Given the description of an element on the screen output the (x, y) to click on. 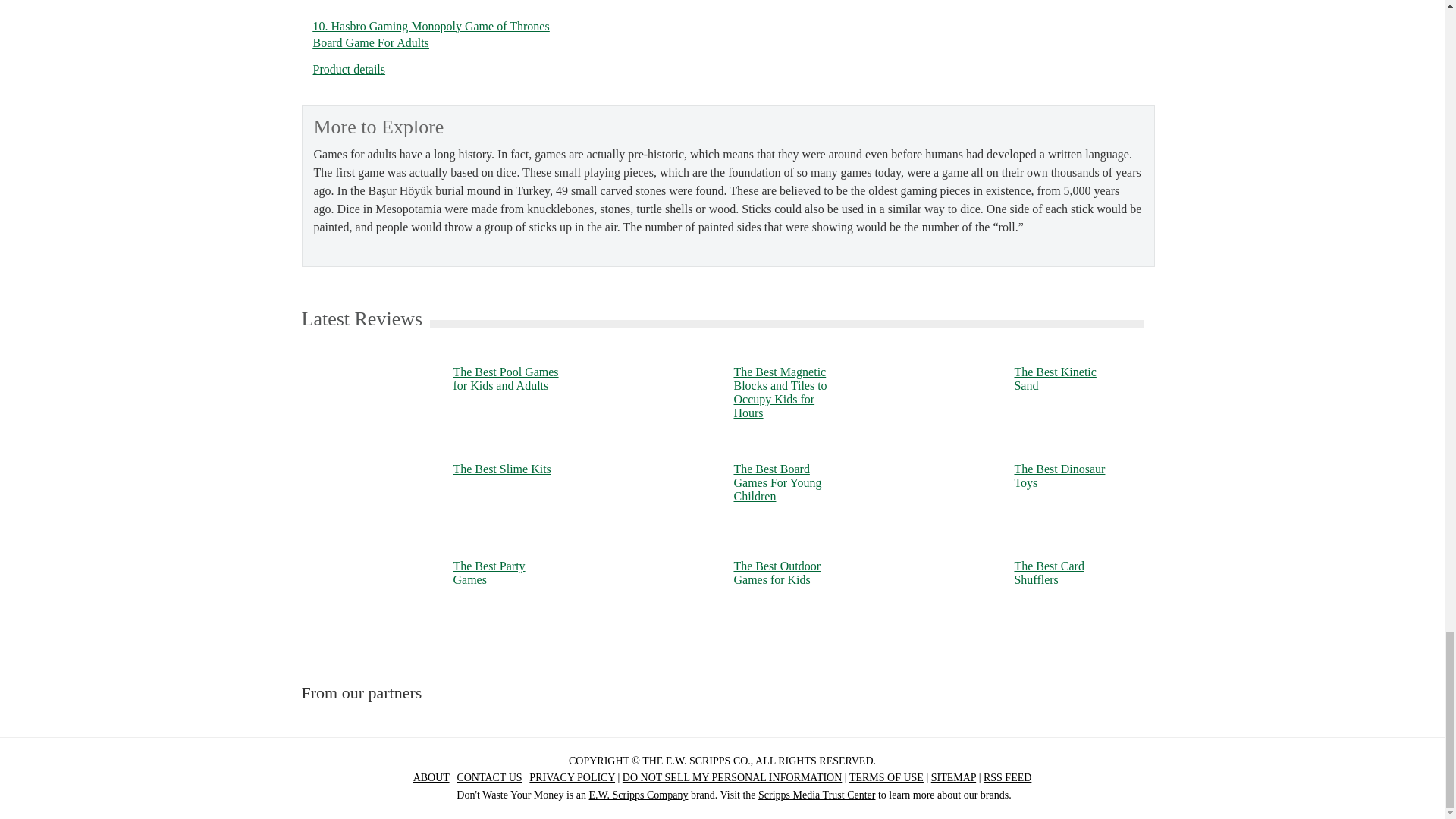
Hasbro Gaming Monopoly Game of Thrones Board Game For Adults (349, 69)
